Given the description of an element on the screen output the (x, y) to click on. 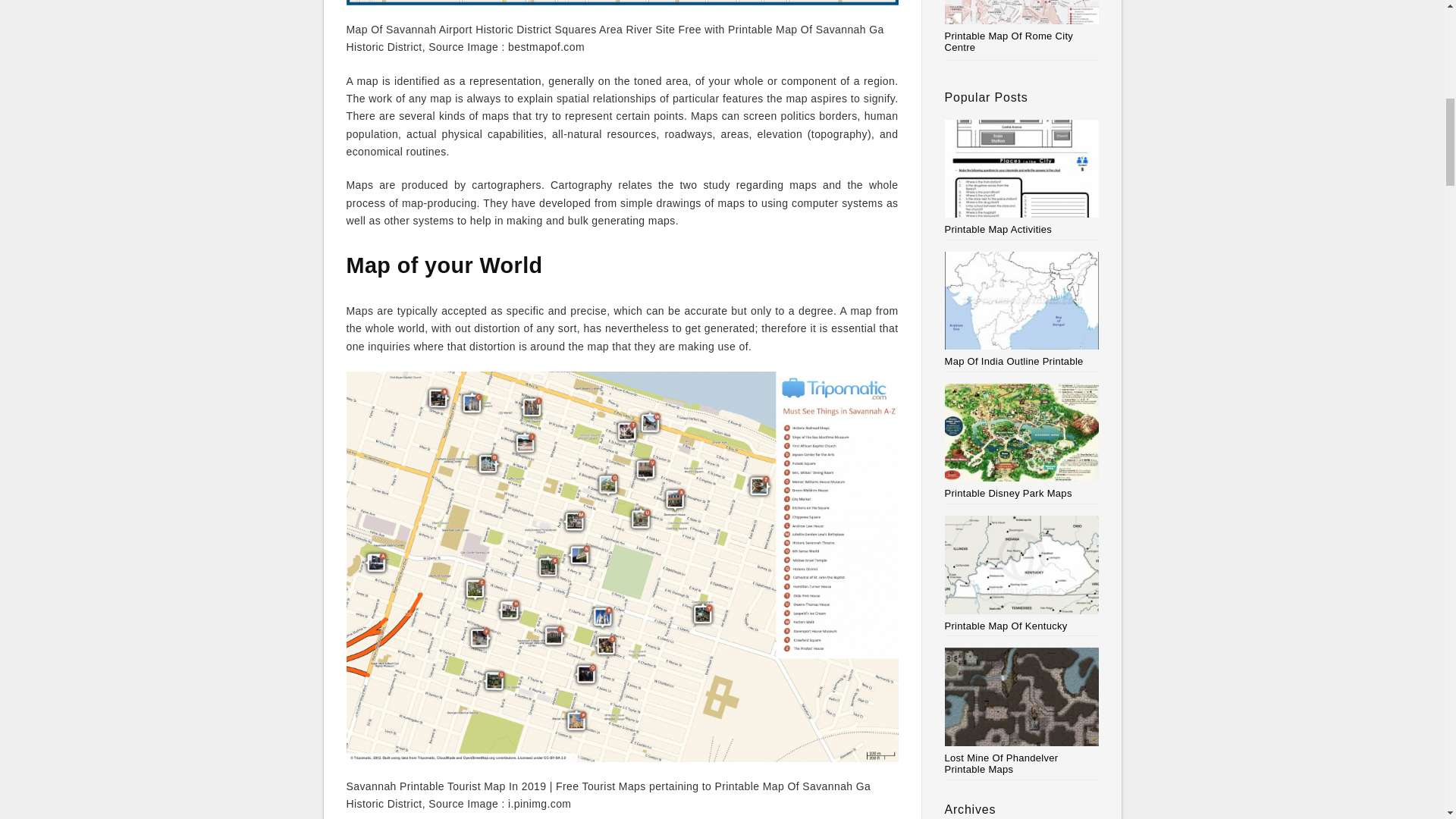
Printable Map Activities (1021, 177)
Printable Map Of Rome City Centre (1009, 42)
